Given the description of an element on the screen output the (x, y) to click on. 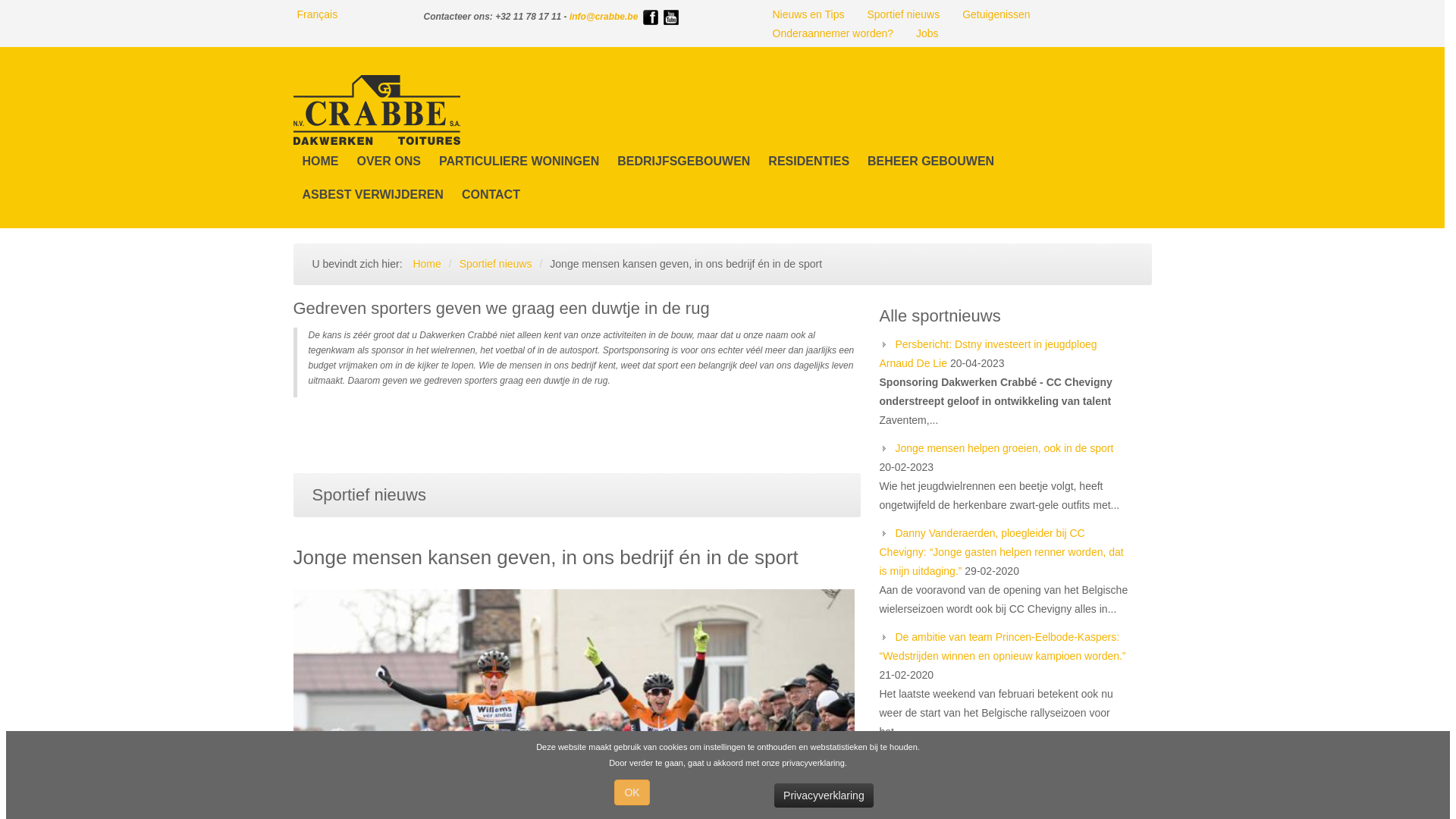
OK Element type: text (631, 792)
BEHEER GEBOUWEN Element type: text (930, 161)
Nieuws en Tips Element type: text (807, 14)
ASBEST VERWIJDEREN Element type: text (371, 194)
PARTICULIERE WONINGEN Element type: text (519, 161)
Arnaud De Lie maakt zich klaar voor een nieuw topseizoen Element type: text (998, 768)
Jonge mensen helpen groeien, ook in de sport Element type: text (1003, 448)
BEDRIJFSGEBOUWEN Element type: text (683, 161)
info@crabbe.be Element type: text (603, 16)
Home Element type: text (426, 263)
Onderaannemer worden? Element type: text (832, 33)
RESIDENTIES Element type: text (808, 161)
Jobs Element type: text (927, 33)
Sportief nieuws Element type: text (495, 263)
Privacyverklaring Element type: text (823, 795)
CONTACT Element type: text (490, 194)
OVER ONS Element type: text (388, 161)
HOME Element type: text (319, 161)
Getuigenissen Element type: text (996, 14)
Persbericht: Dstny investeert in jeugdploeg Arnaud De Lie Element type: text (988, 353)
Sportief nieuws Element type: text (902, 14)
